Given the description of an element on the screen output the (x, y) to click on. 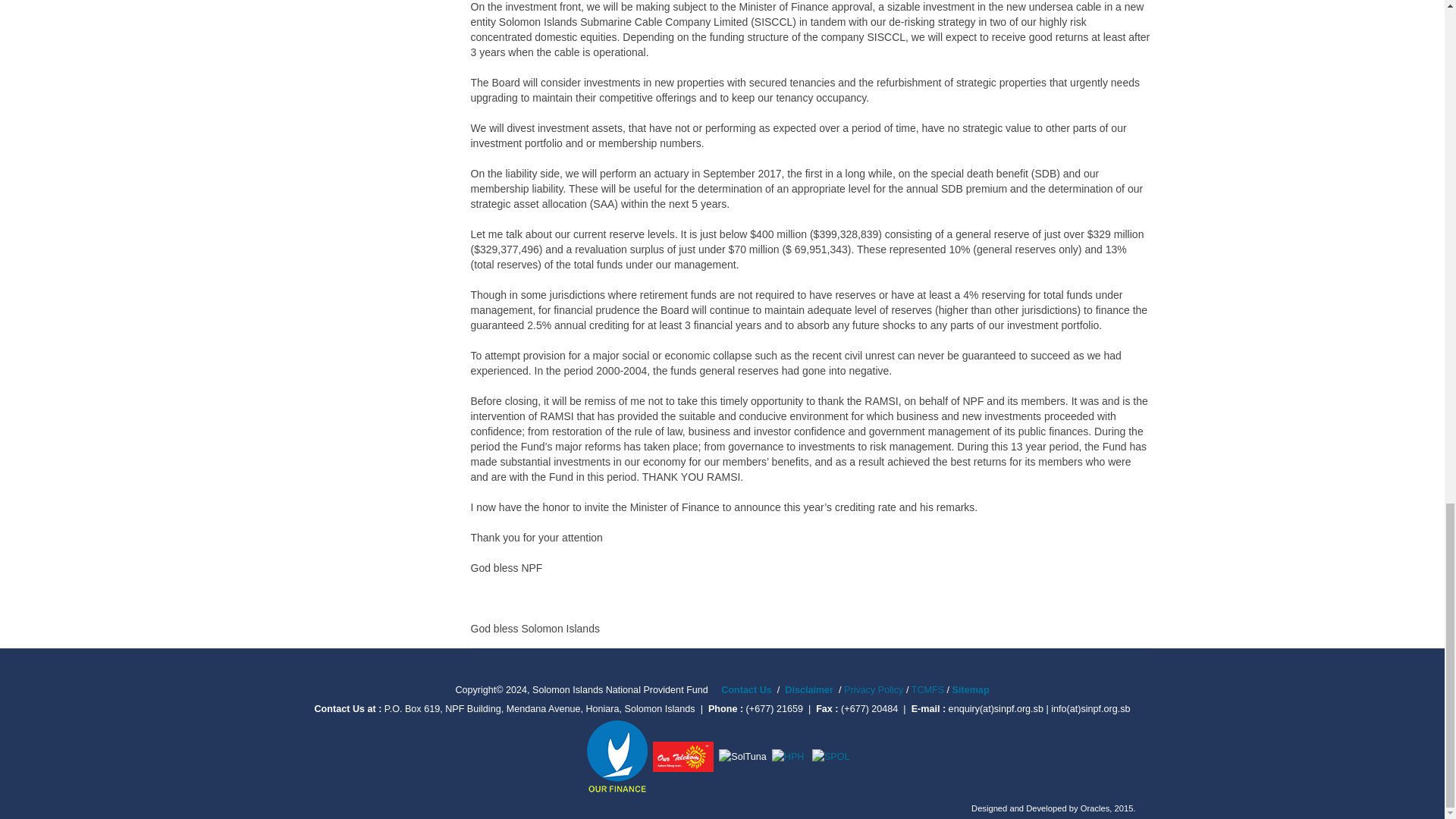
TCMFS (929, 689)
Disclaimer (808, 689)
Contact Us (745, 689)
Telekom (649, 756)
Privacy Policy (873, 689)
SPO (831, 756)
Sitemap (971, 689)
